Given the description of an element on the screen output the (x, y) to click on. 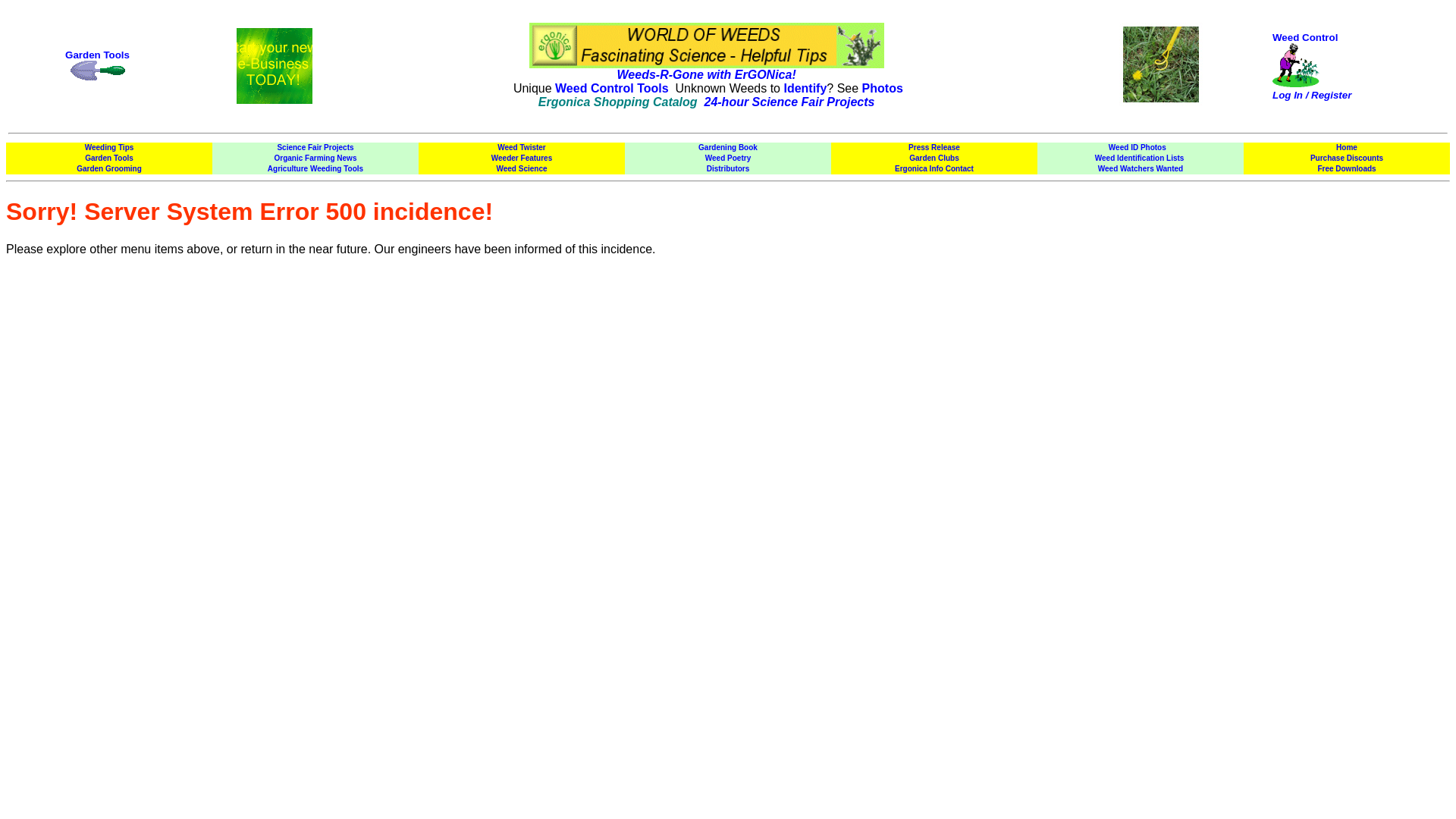
Weeding Tips (108, 147)
Weed Twister (521, 147)
Weed Identification Lists (1139, 157)
Photos (881, 88)
Home (1346, 147)
Volunteer to help conserve public parks and reserves (1139, 168)
Identify (805, 88)
Press Release (933, 147)
Garden Grooming (109, 168)
Over 200 Weed Identification Lists - Most with Images! (805, 88)
Are you ready to launch your first e-commerce business? (274, 33)
Over 200 Weed Identification Lists by State or Region (1139, 157)
